Given the description of an element on the screen output the (x, y) to click on. 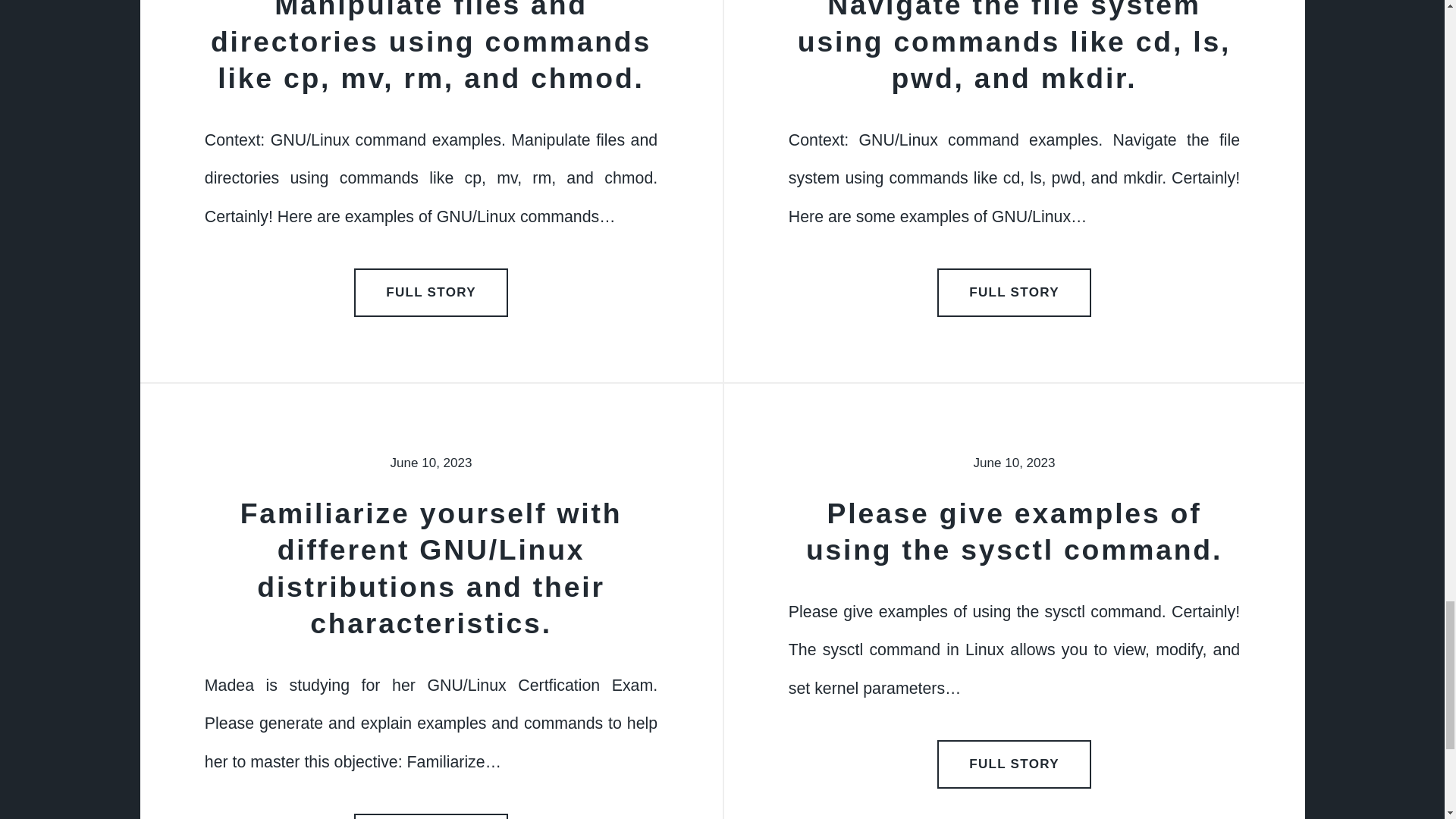
FULL STORY (430, 292)
Please give examples of using the sysctl command. (1014, 531)
FULL STORY (1014, 292)
FULL STORY (1014, 764)
FULL STORY (430, 816)
